Given the description of an element on the screen output the (x, y) to click on. 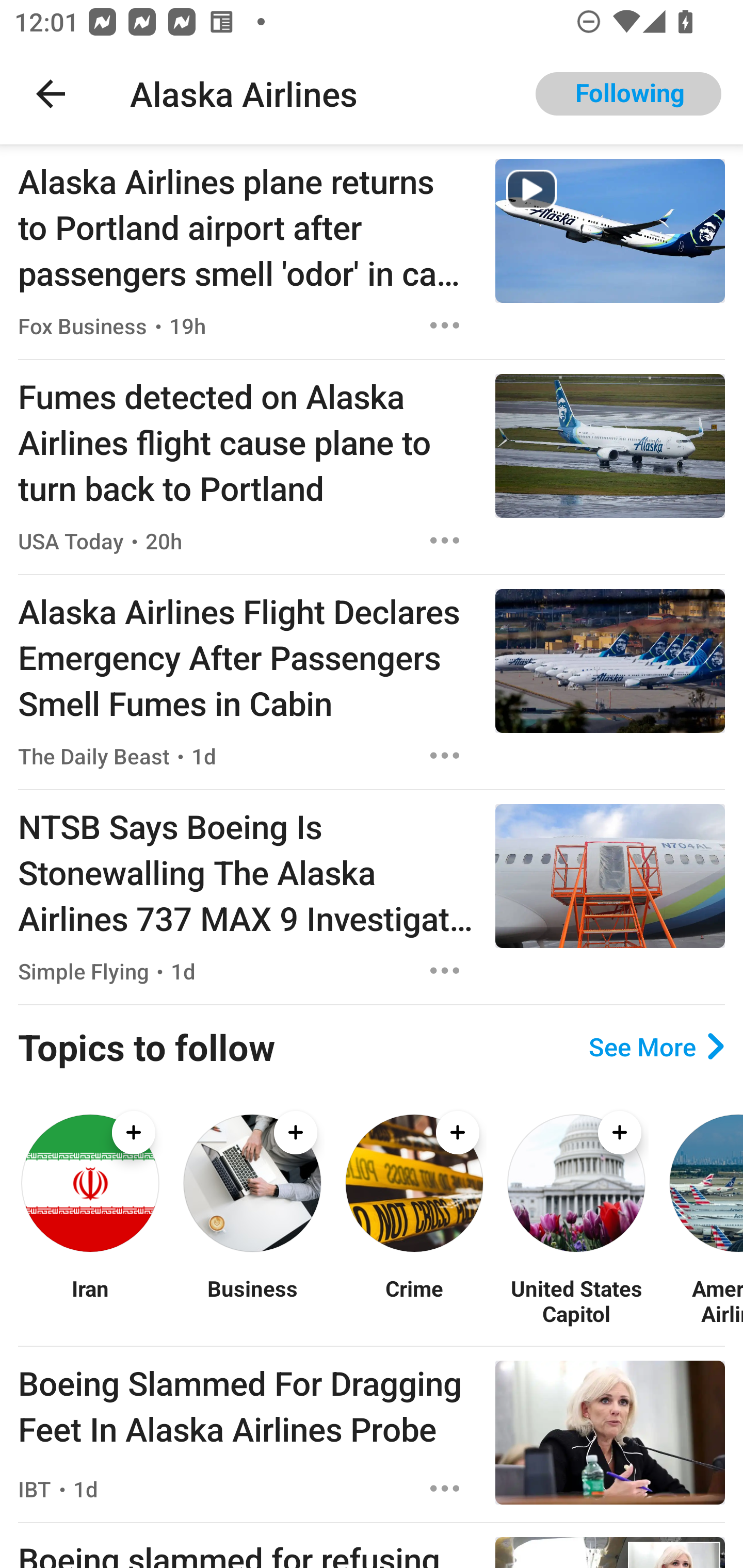
Navigate up (50, 93)
Following (628, 94)
Options (444, 325)
Options (444, 540)
Options (444, 755)
Options (444, 970)
See More (656, 1046)
Iran (89, 1300)
Business (251, 1300)
Crime (413, 1300)
United States Capitol (575, 1300)
Options (444, 1488)
